Given the description of an element on the screen output the (x, y) to click on. 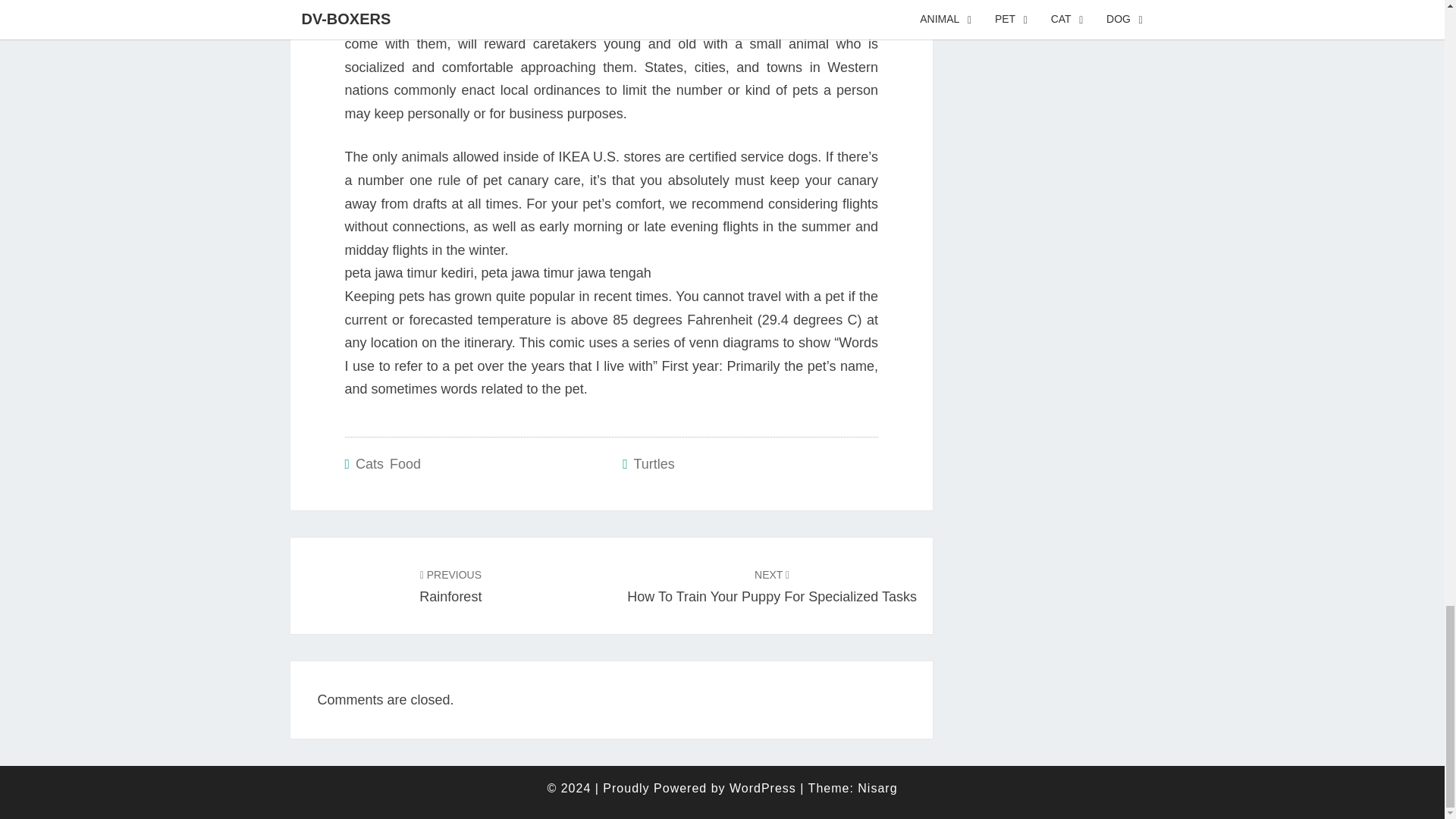
Turtles (654, 463)
Cats Food (772, 585)
